Given the description of an element on the screen output the (x, y) to click on. 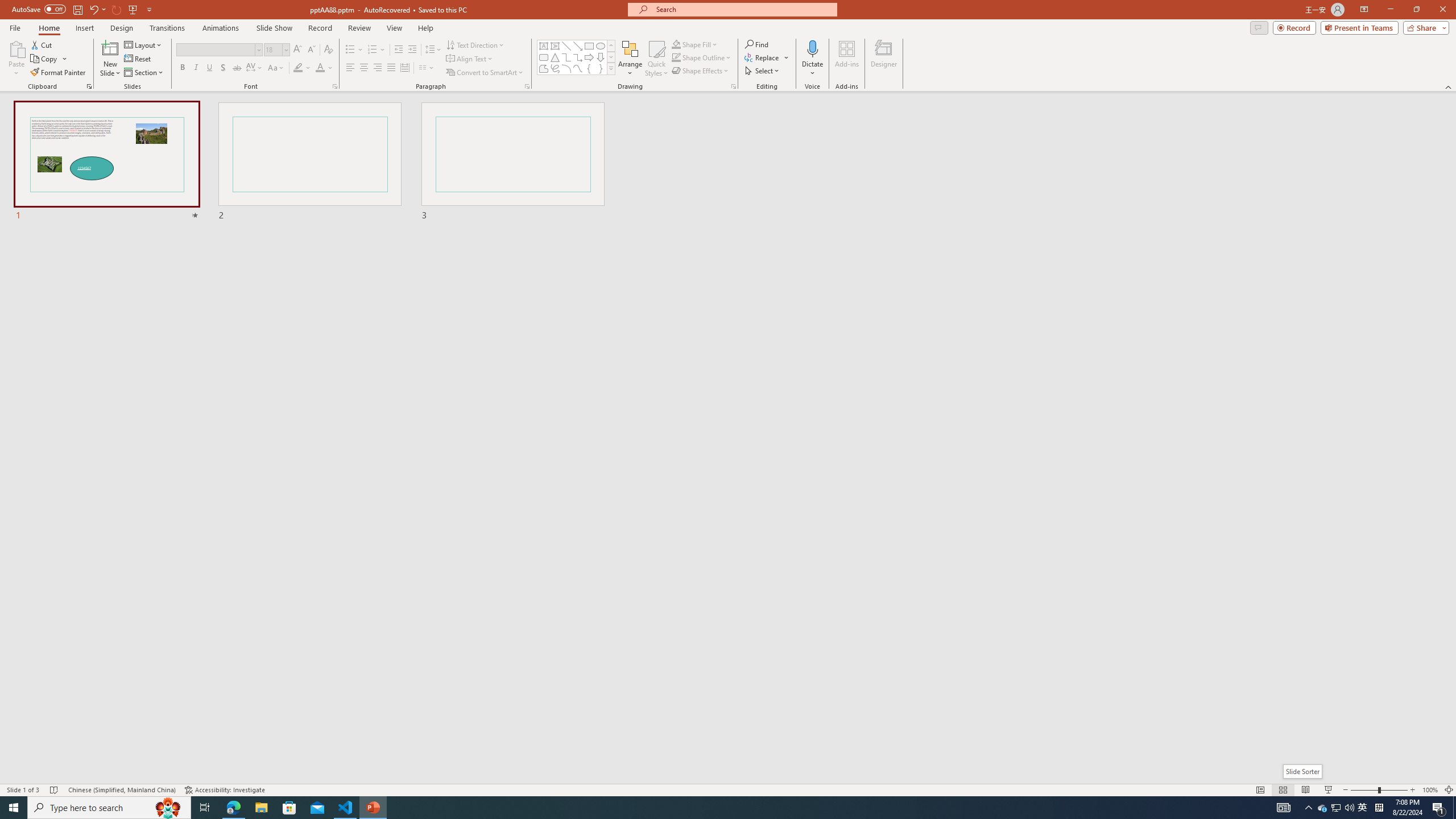
Numbering (372, 49)
Share (1423, 27)
Decrease Indent (398, 49)
From Beginning (133, 9)
Zoom Out (1364, 790)
New Slide (110, 48)
Clear Formatting (327, 49)
Format Painter (58, 72)
View (395, 28)
Columns (426, 67)
Rectangle (589, 45)
Shape Outline Teal, Accent 1 (675, 56)
Animations (220, 28)
Shapes (611, 68)
